Given the description of an element on the screen output the (x, y) to click on. 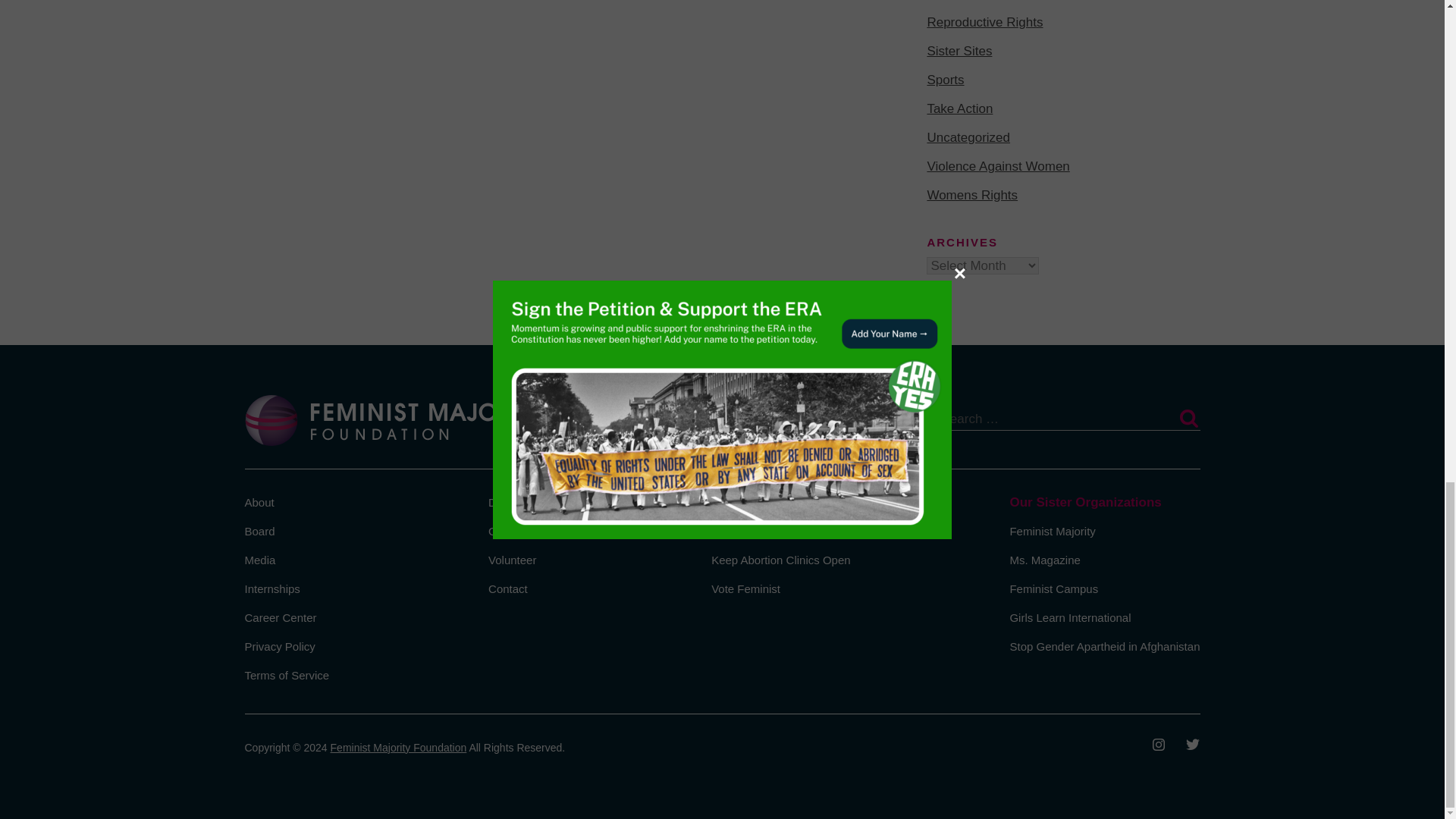
Search (1187, 418)
Search (1187, 418)
